Given the description of an element on the screen output the (x, y) to click on. 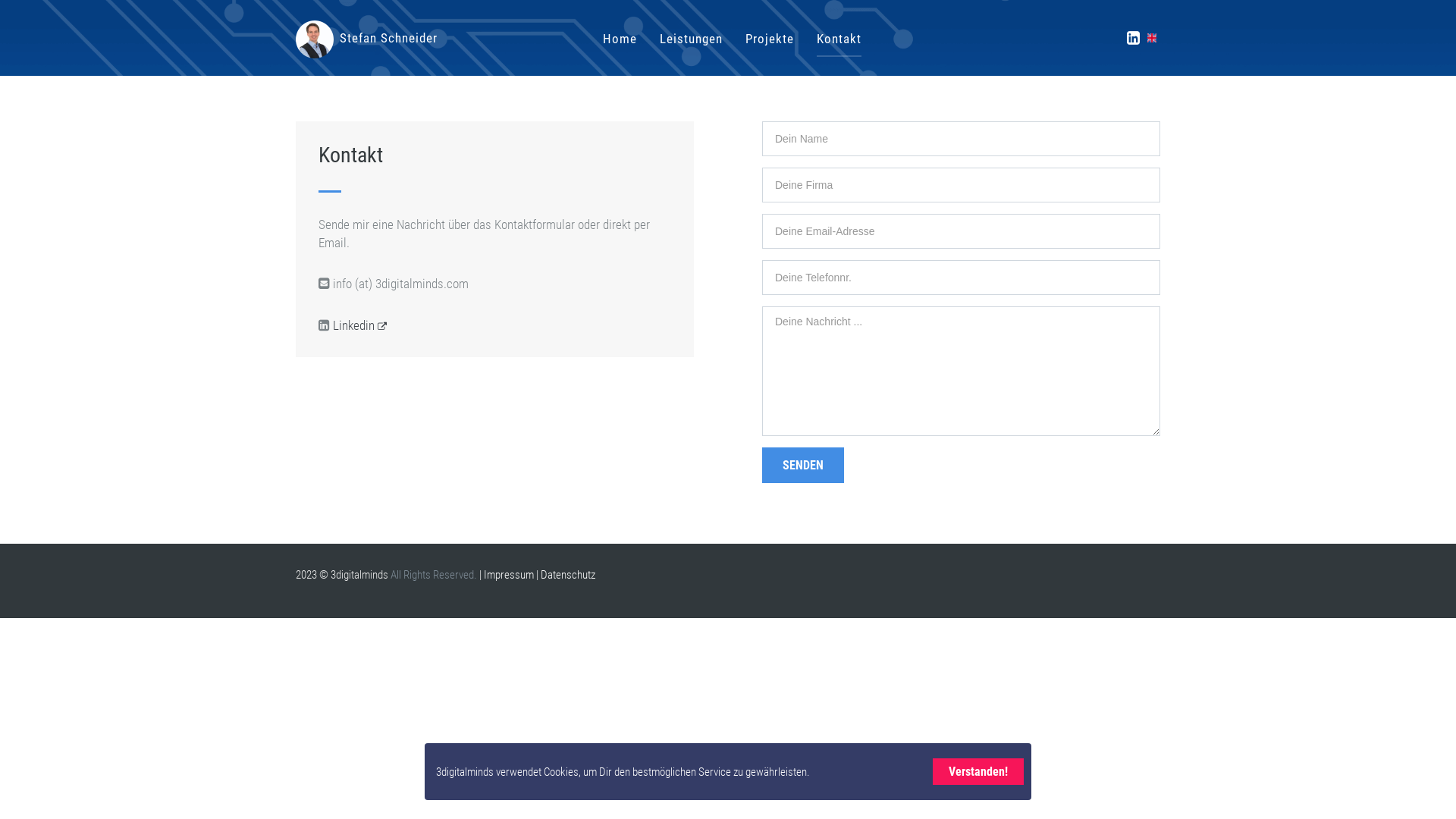
Home Element type: text (619, 37)
SENDEN Element type: text (803, 464)
Linkedin Element type: text (359, 324)
Projekte Element type: text (769, 37)
Datenschutz Element type: text (567, 574)
Impressum Element type: text (508, 574)
Leistungen Element type: text (690, 37)
Kontakt Element type: text (838, 37)
Verstanden! Element type: text (977, 771)
